Given the description of an element on the screen output the (x, y) to click on. 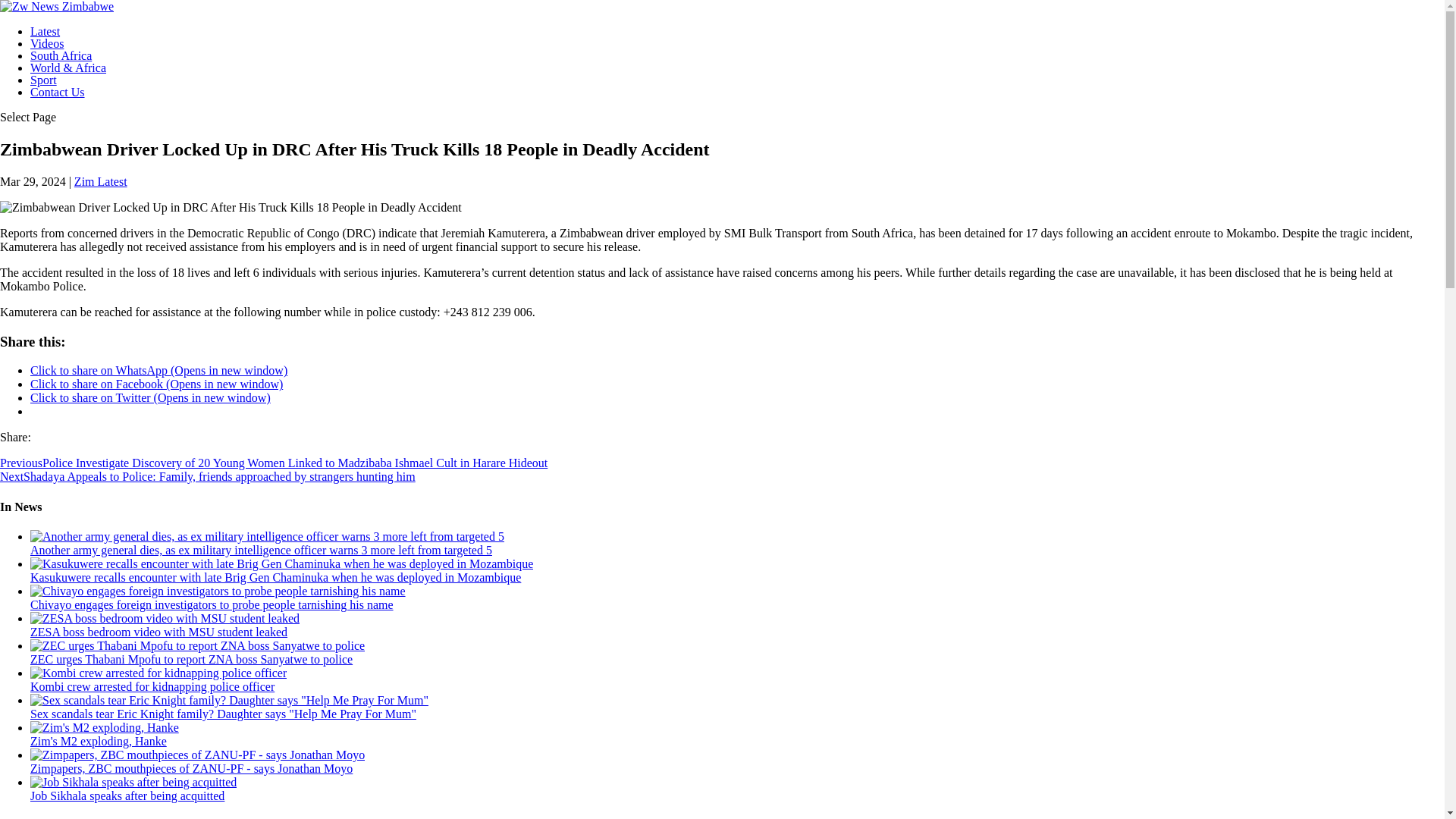
Contact Us (57, 91)
Job Sikhala speaks after being acquitted (127, 795)
South Africa (60, 55)
Videos (47, 42)
Click to share on Twitter (150, 397)
Kombi crew arrested for kidnapping police officer (152, 686)
ZESA boss bedroom video with MSU student leaked (158, 631)
